Given the description of an element on the screen output the (x, y) to click on. 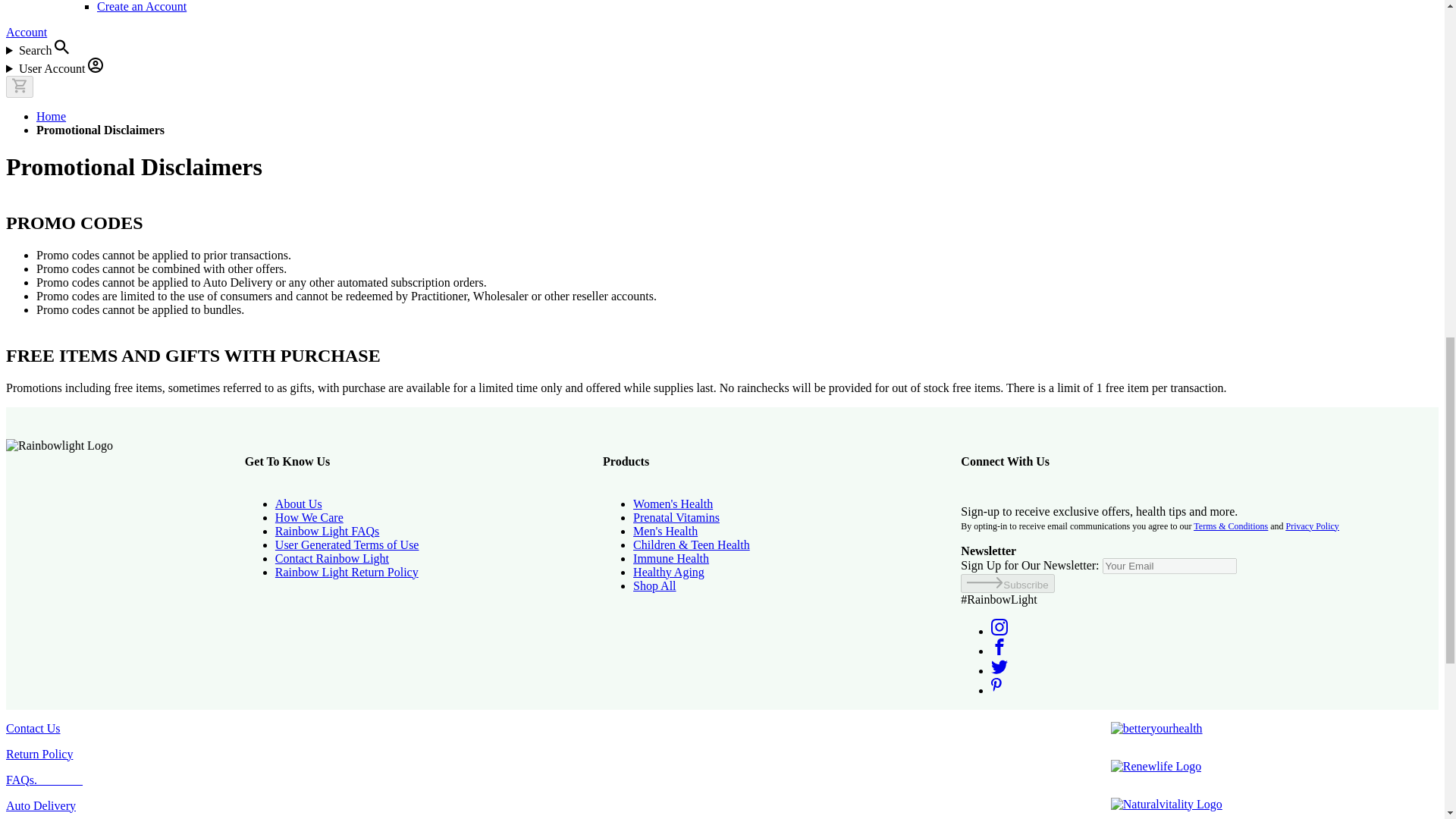
My Cart (19, 86)
